Given the description of an element on the screen output the (x, y) to click on. 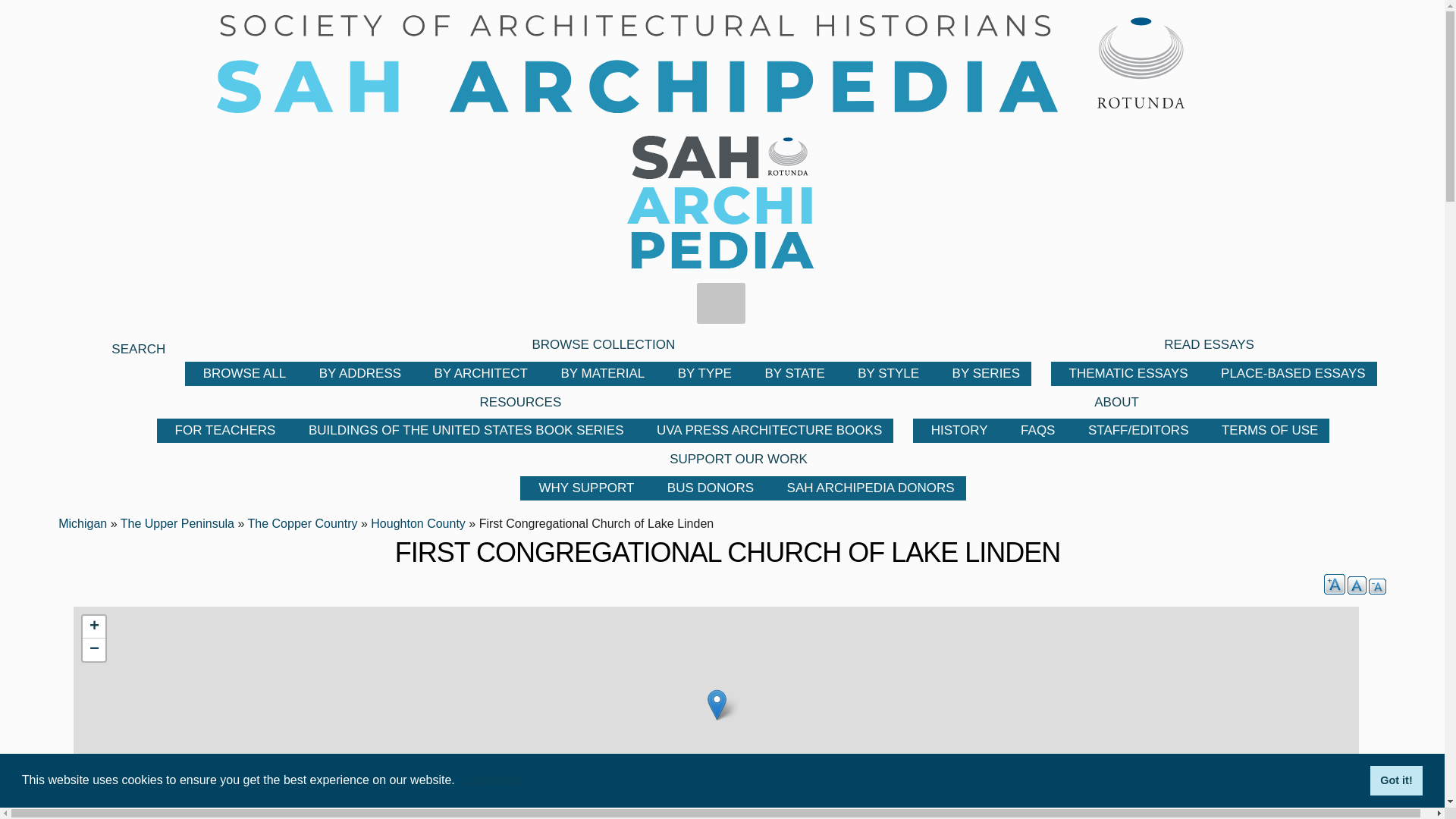
BROWSE ALL (242, 373)
ABOUT (1114, 401)
BY TYPE (702, 373)
BY MATERIAL (600, 373)
The Upper Peninsula (177, 522)
The Copper Country (302, 522)
Got it! (1396, 780)
BY STATE (792, 373)
BY ARCHITECT (478, 373)
READ ESSAYS (1206, 344)
RESOURCES (518, 401)
UVA PRESS ARCHITECTURE BOOKS (767, 430)
Michigan (82, 522)
BROWSE COLLECTION (600, 344)
BY SERIES (983, 373)
